Given the description of an element on the screen output the (x, y) to click on. 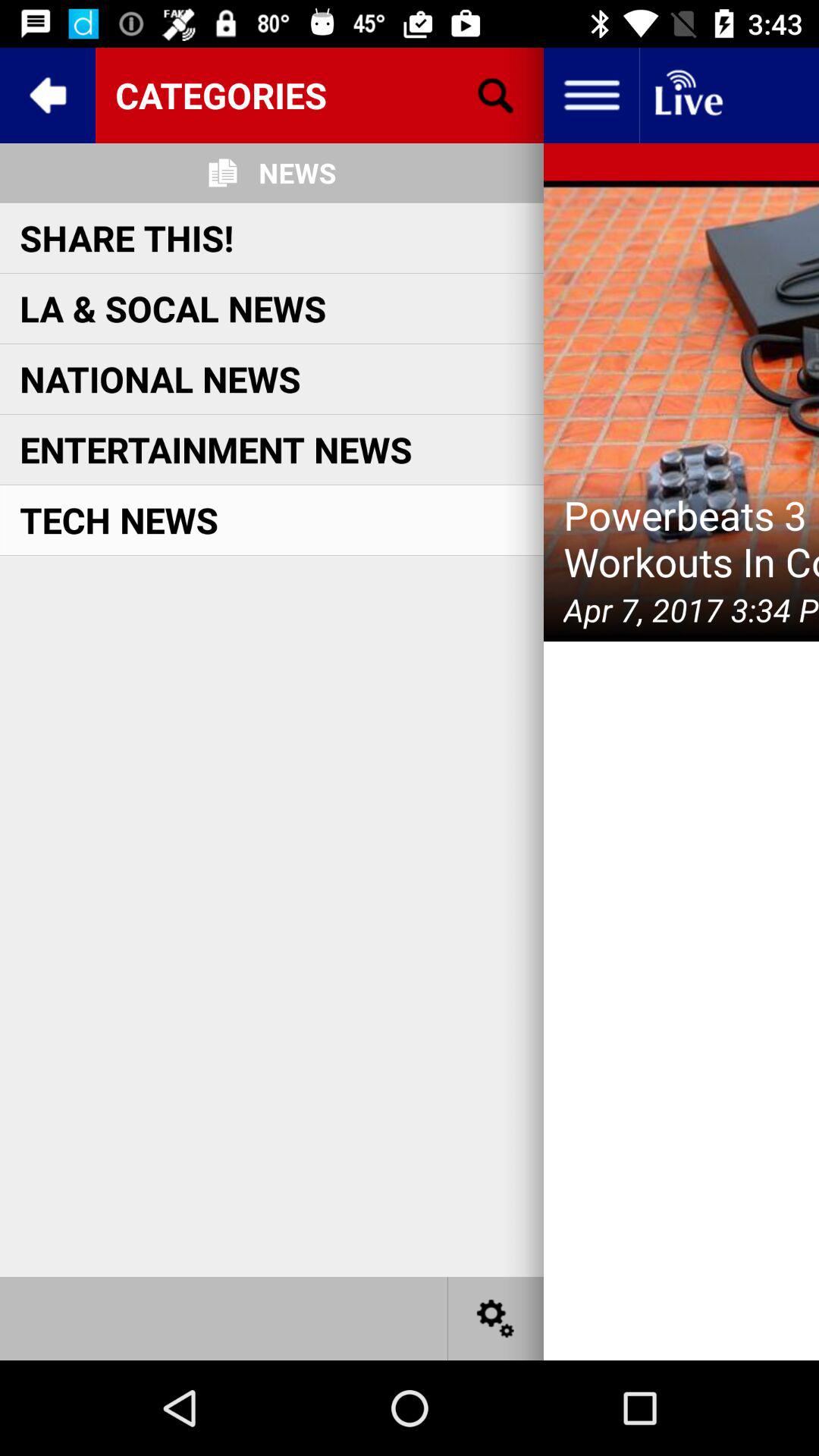
choose item below entertainment news icon (118, 519)
